Given the description of an element on the screen output the (x, y) to click on. 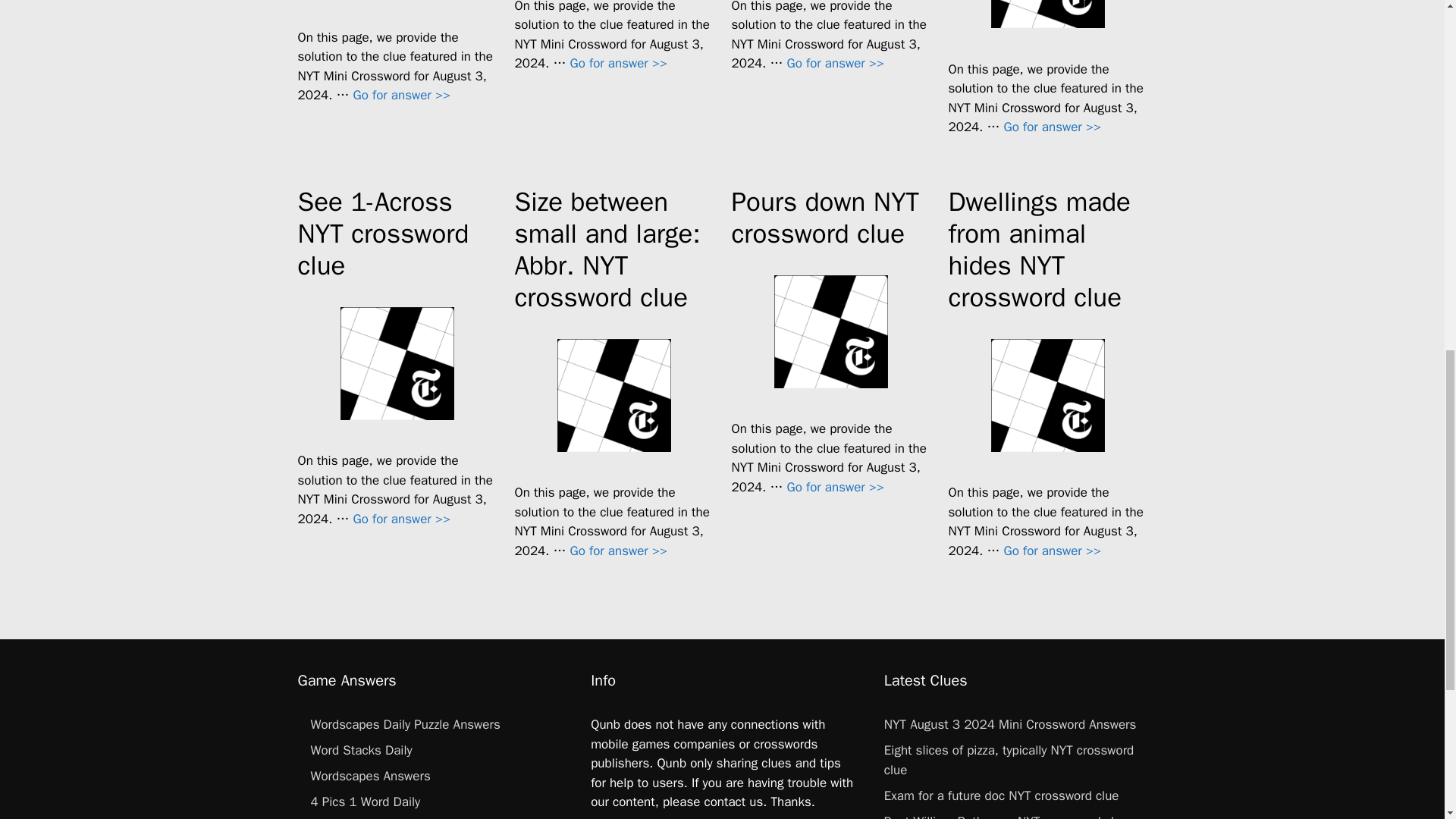
See 1-Across NYT crossword clue (402, 519)
Pours down NYT crossword clue (836, 487)
Dwellings made from animal hides NYT crossword clue (1053, 550)
Simple skateboard tricks NYT crossword clue (402, 94)
Size between small and large: Abbr. NYT crossword clue (619, 550)
One of a pair on a shelf NYT crossword clue (619, 63)
